Given the description of an element on the screen output the (x, y) to click on. 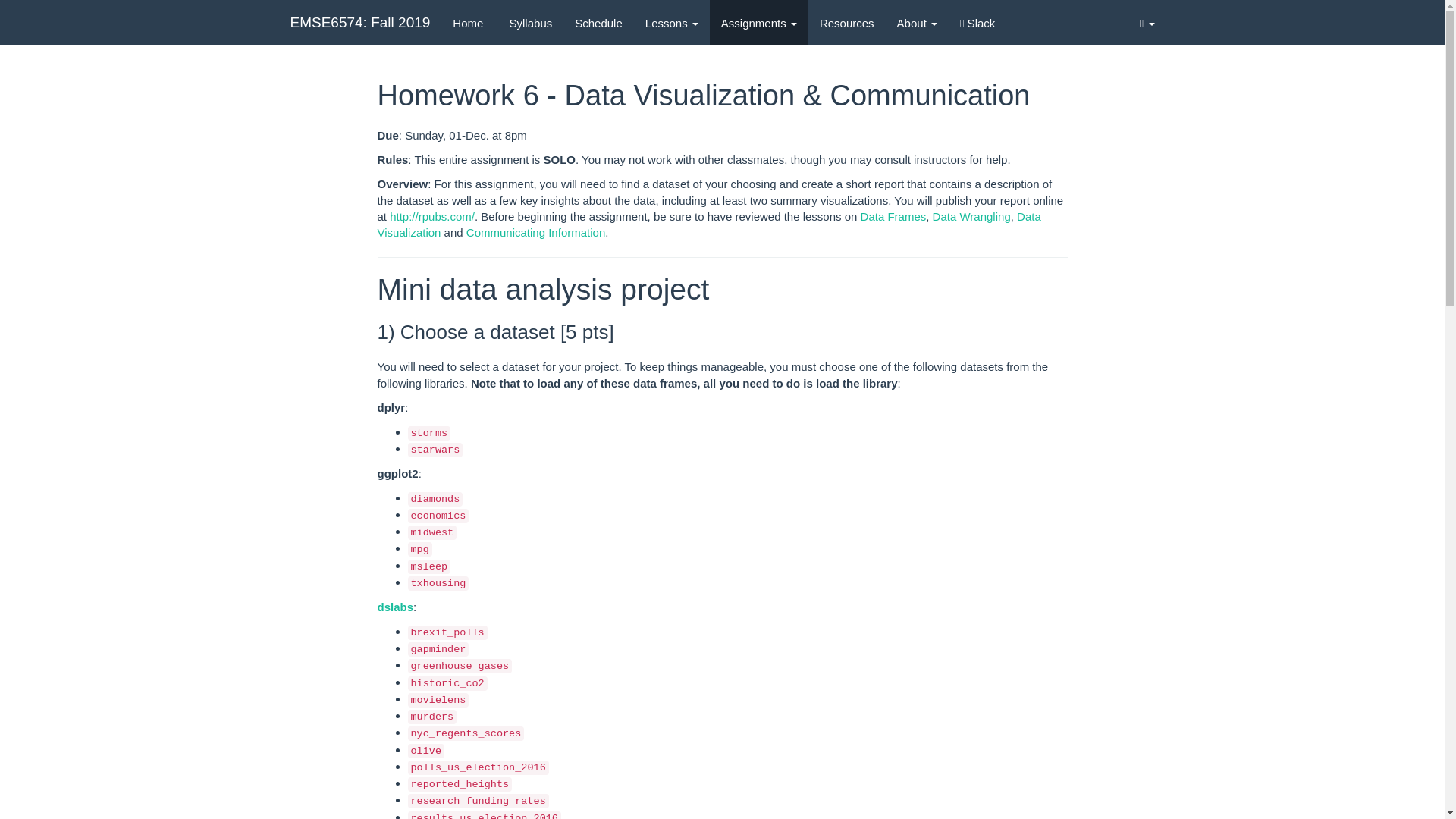
Lessons (671, 22)
Assignments (759, 22)
Schedule (598, 22)
Resources (846, 22)
About (917, 22)
Home (468, 22)
Data Frames (893, 215)
Slack (977, 22)
EMSE6574: Fall 2019 (360, 22)
Syllabus (529, 22)
